Given the description of an element on the screen output the (x, y) to click on. 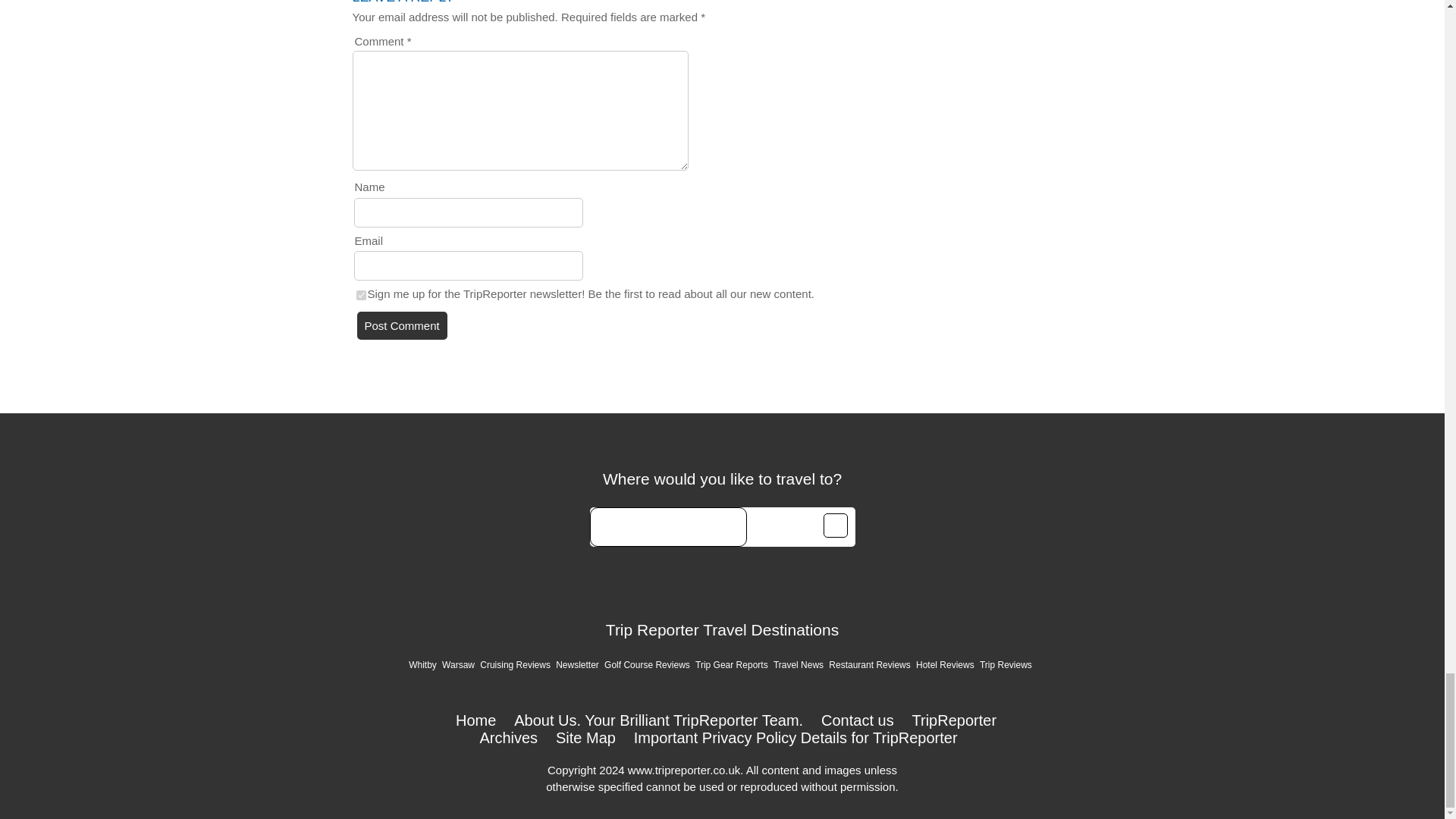
Post Comment (401, 325)
Search (835, 525)
1 (361, 295)
